Given the description of an element on the screen output the (x, y) to click on. 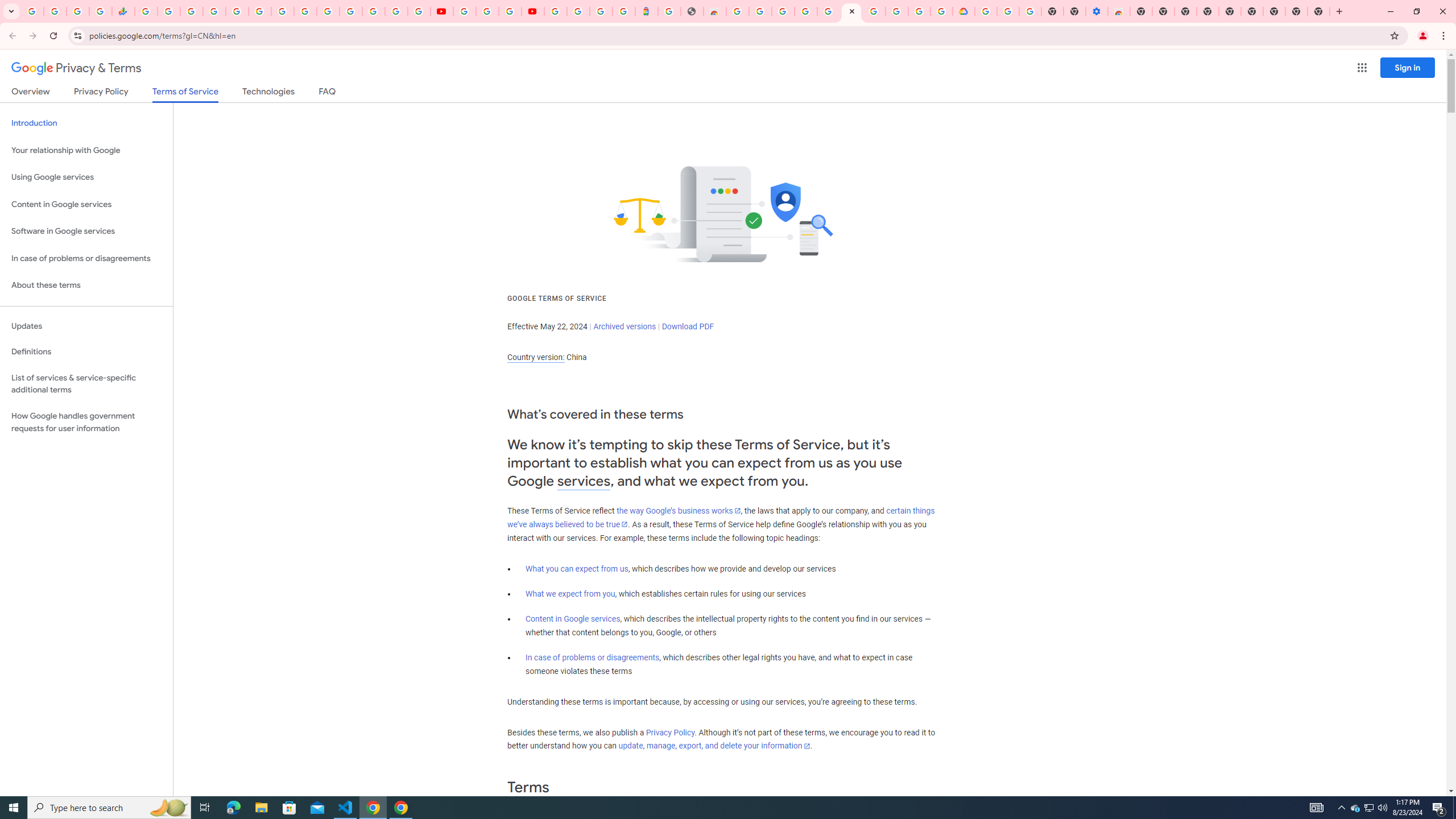
Sign in - Google Accounts (373, 11)
Settings - Accessibility (1096, 11)
Privacy Checkup (419, 11)
Your relationship with Google (86, 150)
update, manage, export, and delete your information (714, 746)
Android TV Policies and Guidelines - Transparency Center (282, 11)
Chrome Web Store - Household (714, 11)
Sign in - Google Accounts (214, 11)
